Given the description of an element on the screen output the (x, y) to click on. 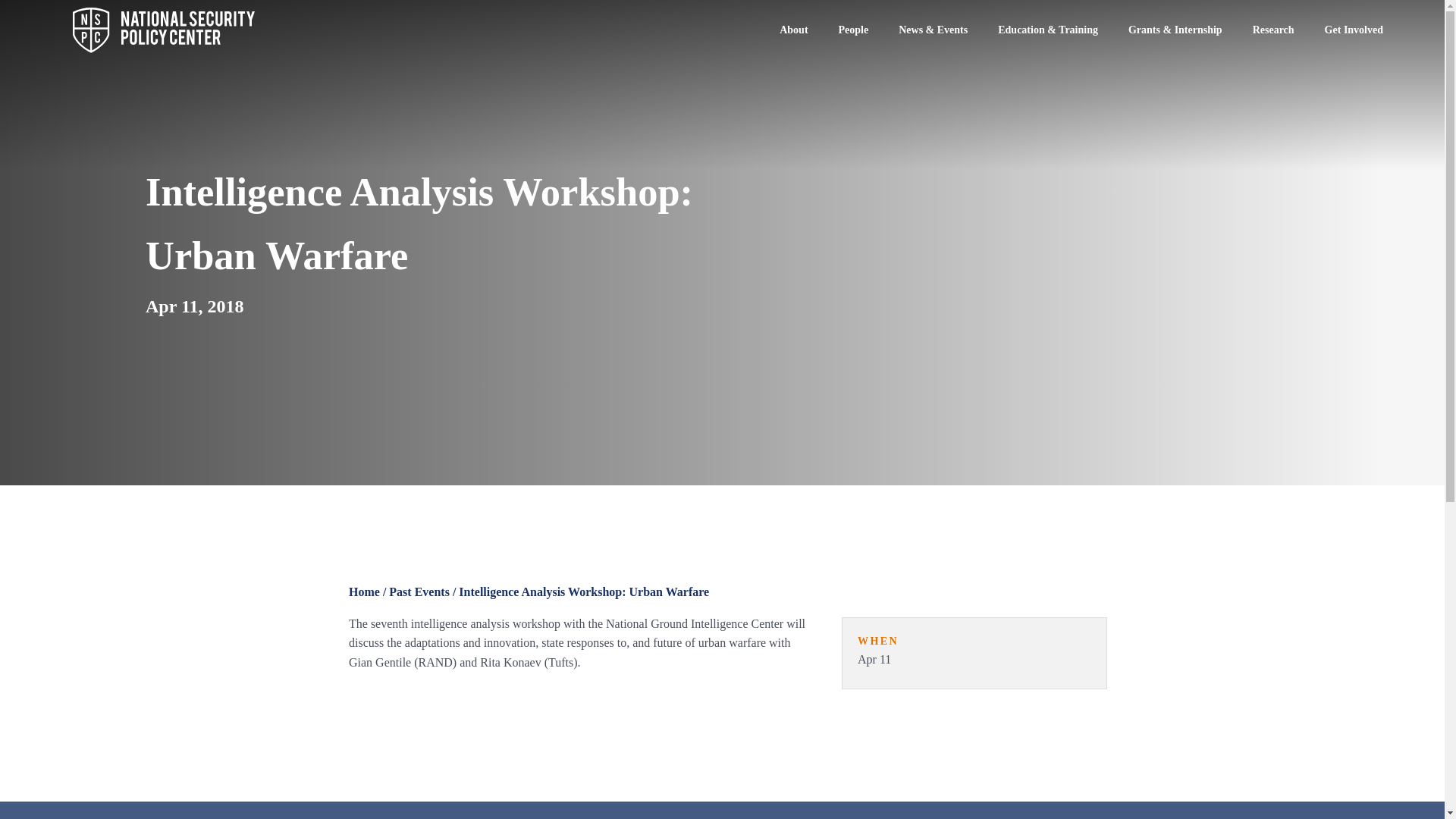
Past Events (418, 591)
Get Involved (1353, 30)
Home (364, 591)
